Given the description of an element on the screen output the (x, y) to click on. 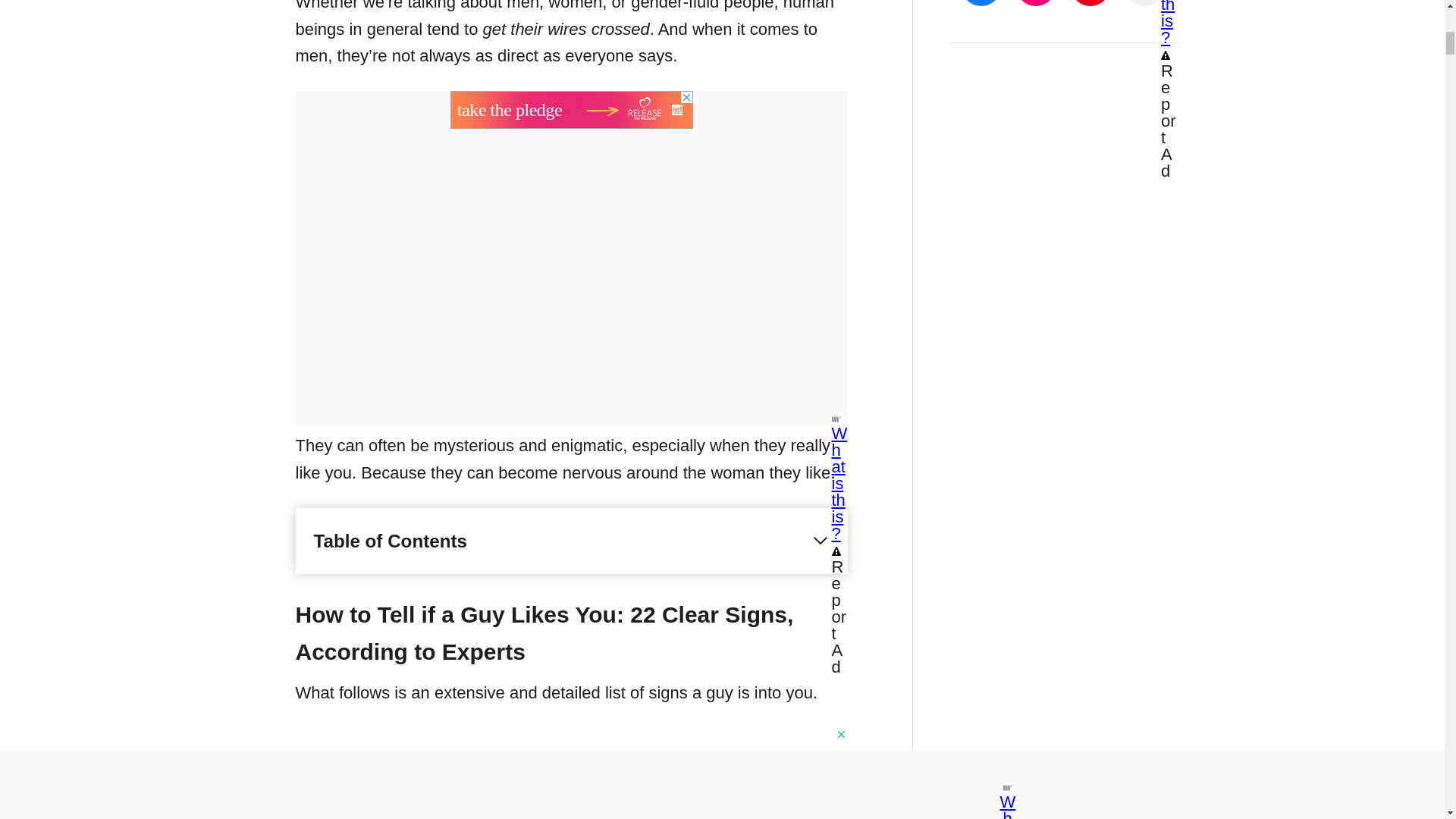
3rd party ad content (571, 109)
Table of Contents (571, 541)
3rd party ad content (571, 762)
